Given the description of an element on the screen output the (x, y) to click on. 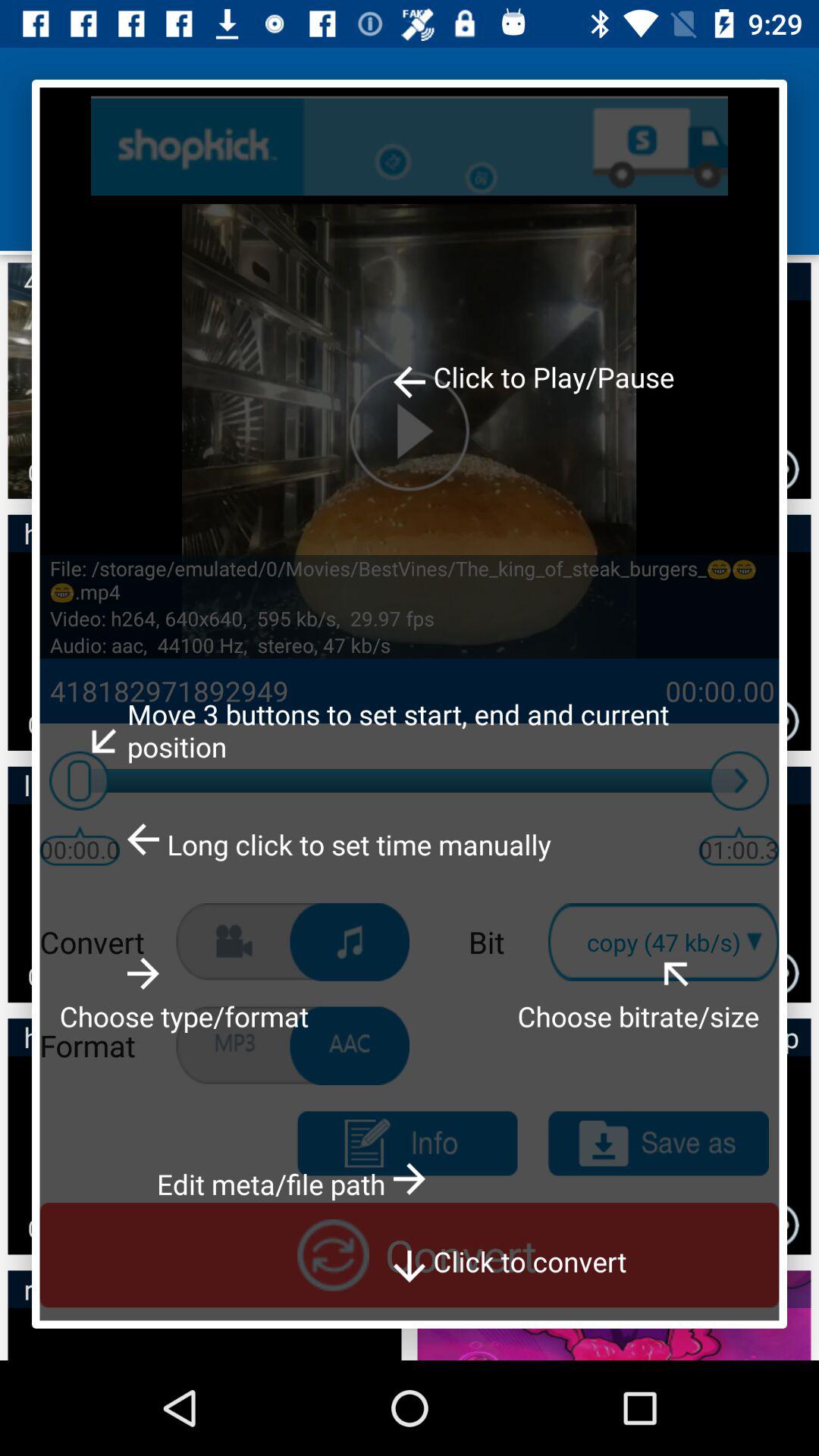
change format to aac (349, 1045)
